Given the description of an element on the screen output the (x, y) to click on. 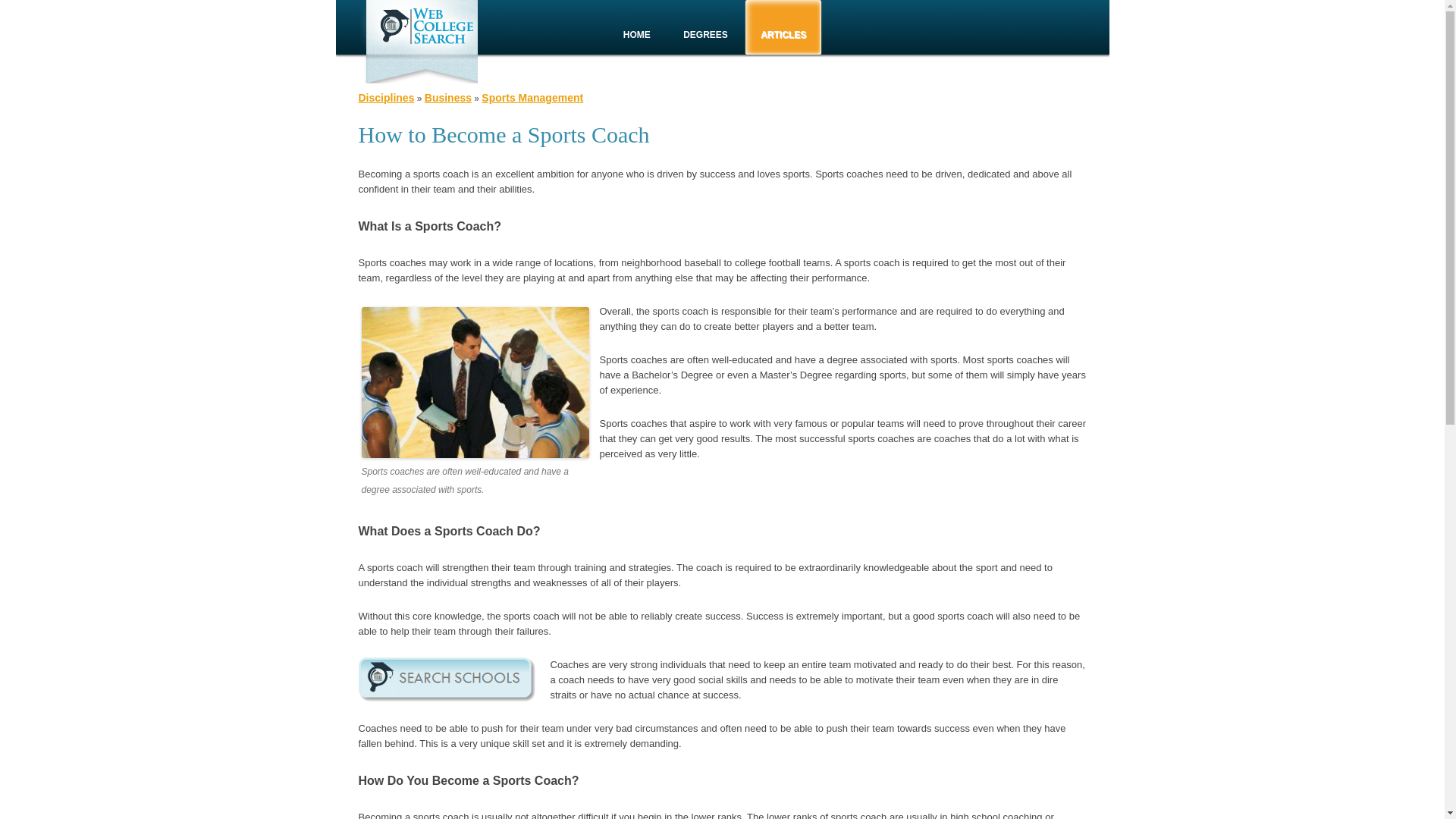
Skip to content (652, 4)
HOME (636, 34)
DEGREES (705, 34)
Sports Management (532, 97)
ARTICLES (783, 34)
Skip to content (652, 4)
Disciplines (385, 97)
Business (448, 97)
